Given the description of an element on the screen output the (x, y) to click on. 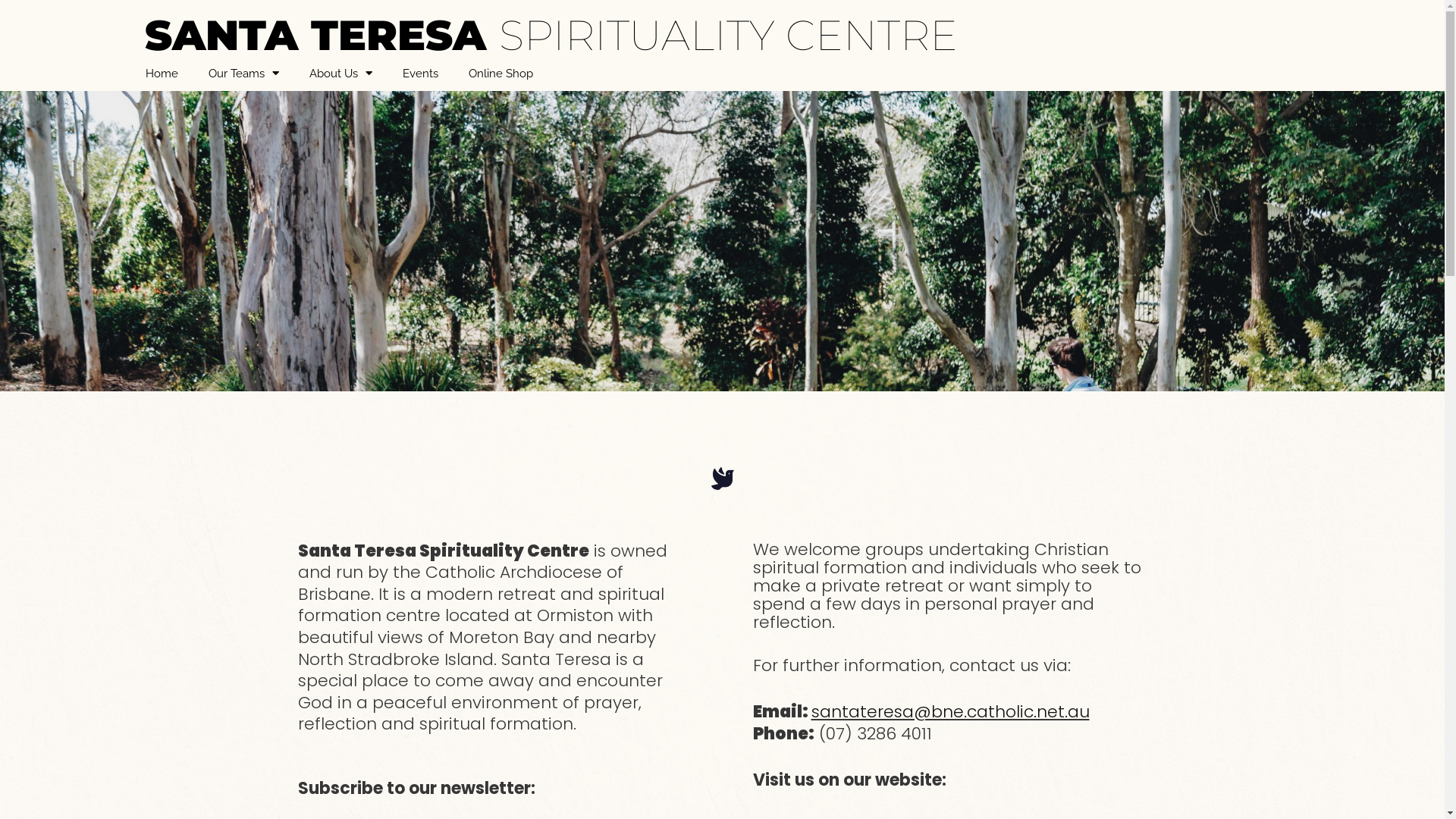
About Us Element type: text (340, 73)
Events Element type: text (419, 73)
santateresa@bne.catholic.net.au Element type: text (950, 711)
Online Shop Element type: text (500, 73)
Our Teams Element type: text (242, 73)
Home Element type: text (161, 73)
